Given the description of an element on the screen output the (x, y) to click on. 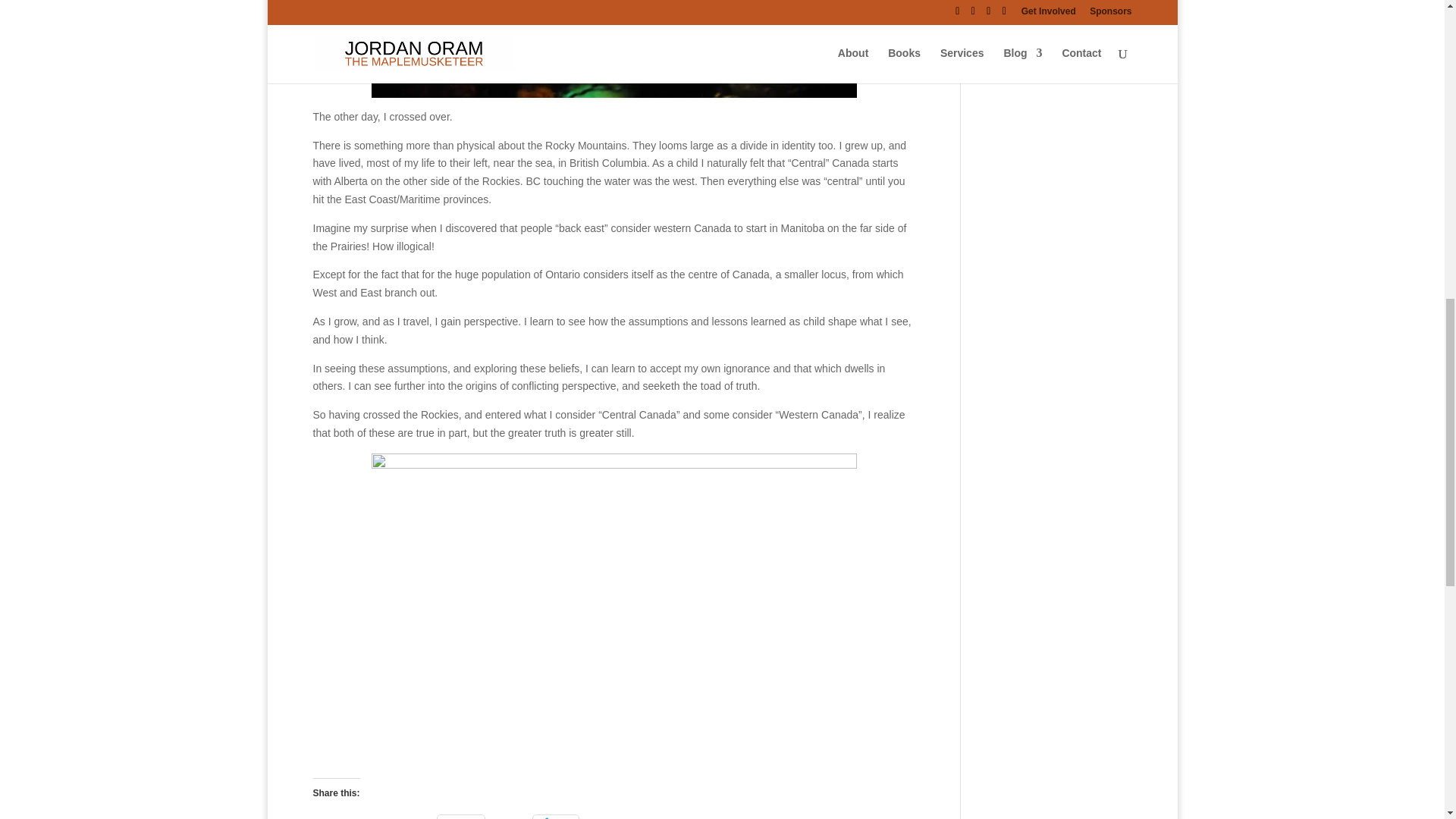
Click to email a link to a friend (461, 816)
Share on Tumblr (392, 816)
More (555, 816)
Email (461, 816)
Transitions2 (614, 48)
Share on Tumblr (392, 816)
Tweet (332, 816)
